Given the description of an element on the screen output the (x, y) to click on. 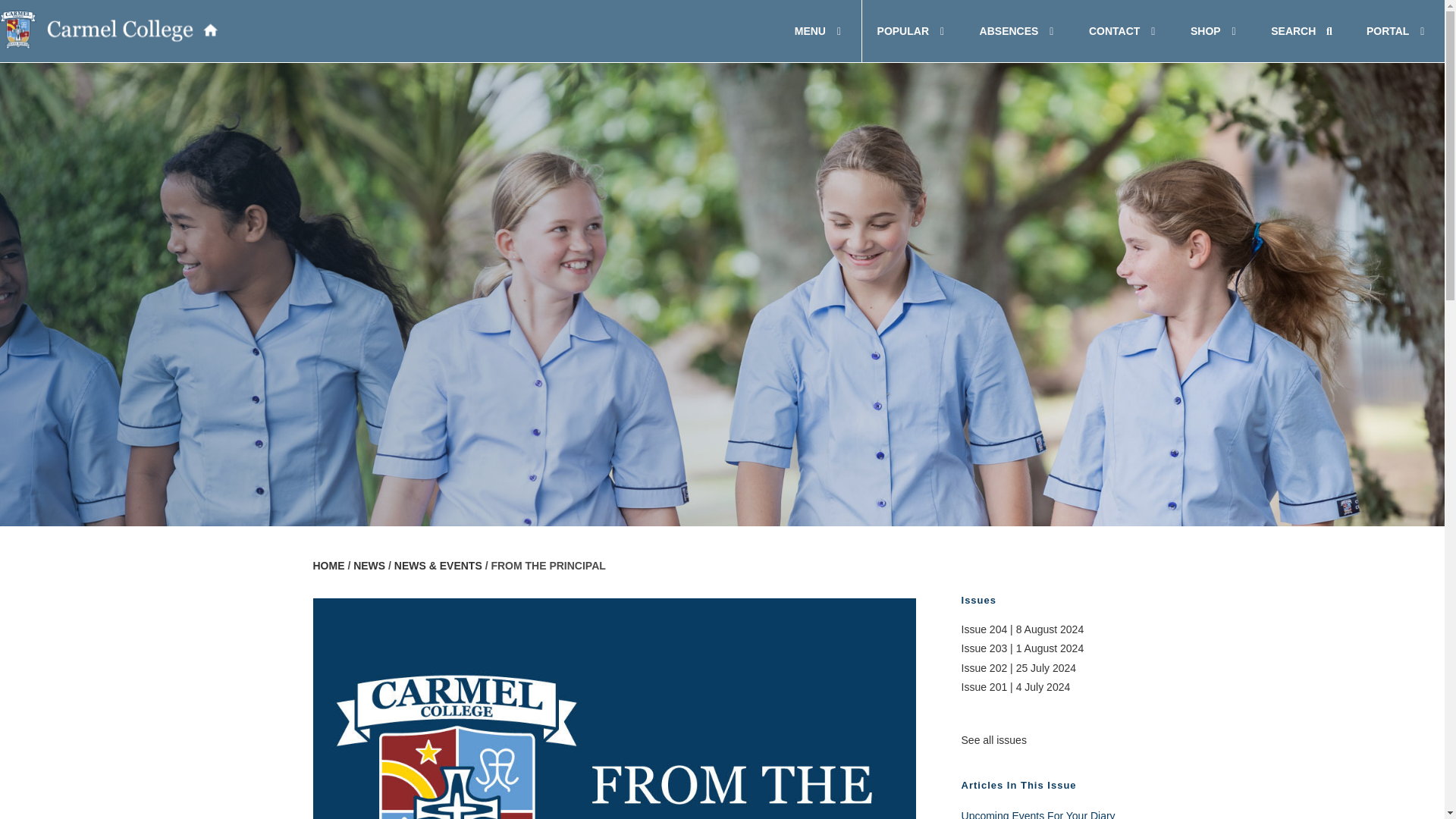
MENU (722, 31)
Carmel-Header-Logo-home-2 (819, 31)
